Given the description of an element on the screen output the (x, y) to click on. 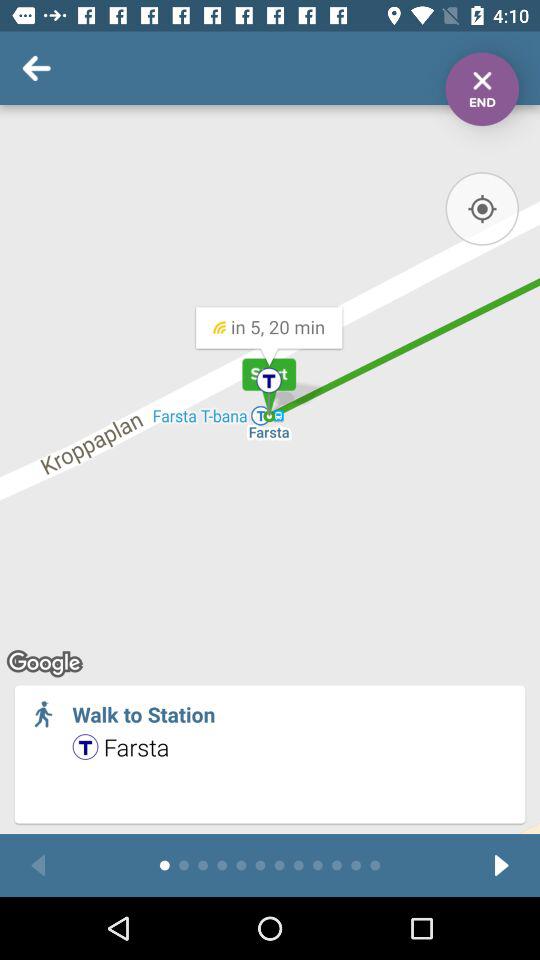
button to end the trip on the gps (482, 89)
